Given the description of an element on the screen output the (x, y) to click on. 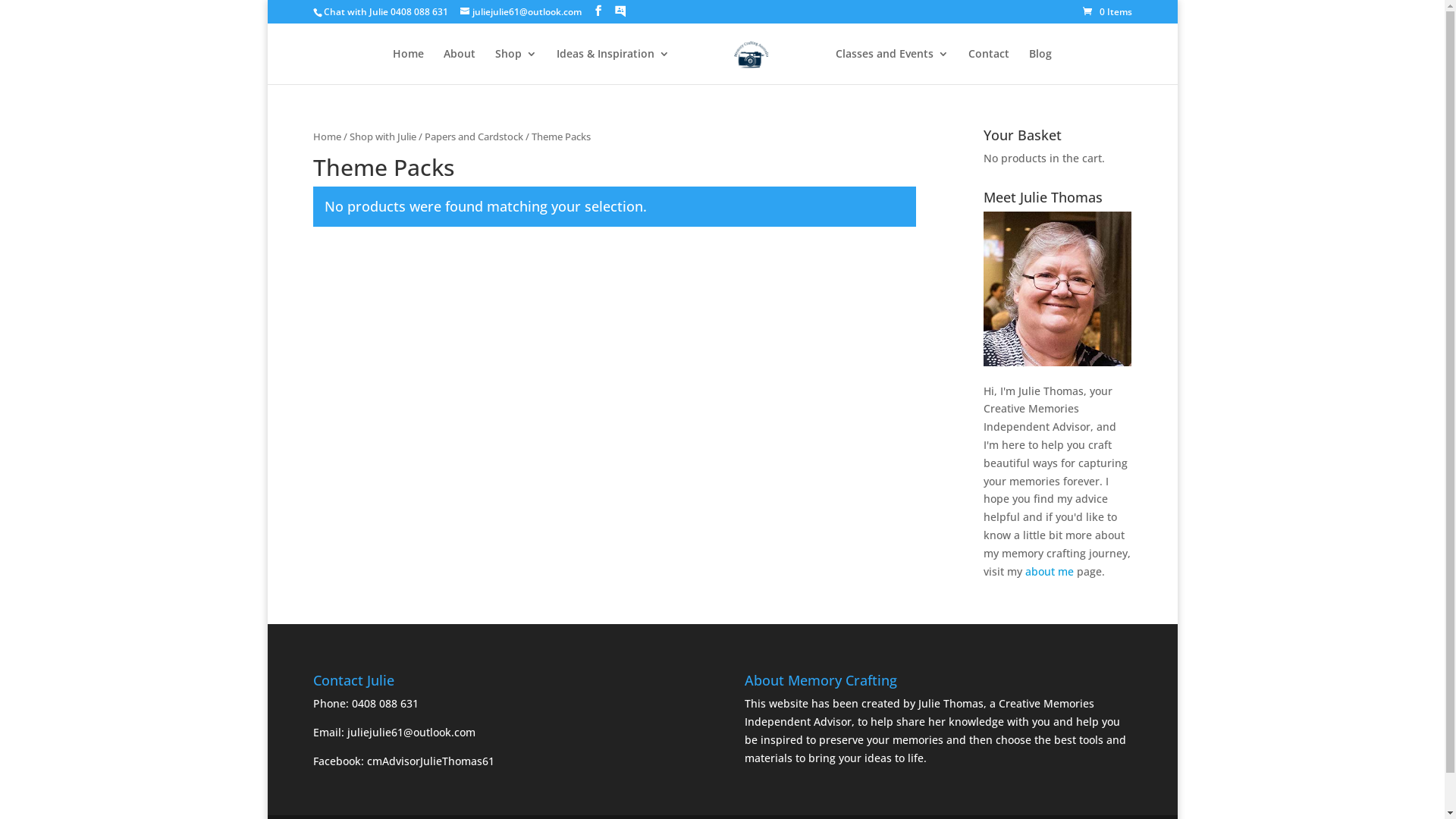
0408 088 631 Element type: text (384, 703)
Shop Element type: text (515, 66)
Blog Element type: text (1040, 66)
Classes and Events Element type: text (891, 66)
cmAdvisorJulieThomas61 Element type: text (430, 760)
Home Element type: text (326, 136)
About Element type: text (459, 66)
Chat with Julie 0408 088 631 Element type: text (384, 11)
juliejulie61@outlook.com Element type: text (411, 731)
Shop with Julie Element type: text (381, 136)
Papers and Cardstock Element type: text (473, 136)
Ideas & Inspiration Element type: text (612, 66)
0 Items Element type: text (1107, 11)
about me Element type: text (1049, 571)
juliejulie61@outlook.com Element type: text (519, 11)
Home Element type: text (407, 66)
Contact Element type: text (988, 66)
